Given the description of an element on the screen output the (x, y) to click on. 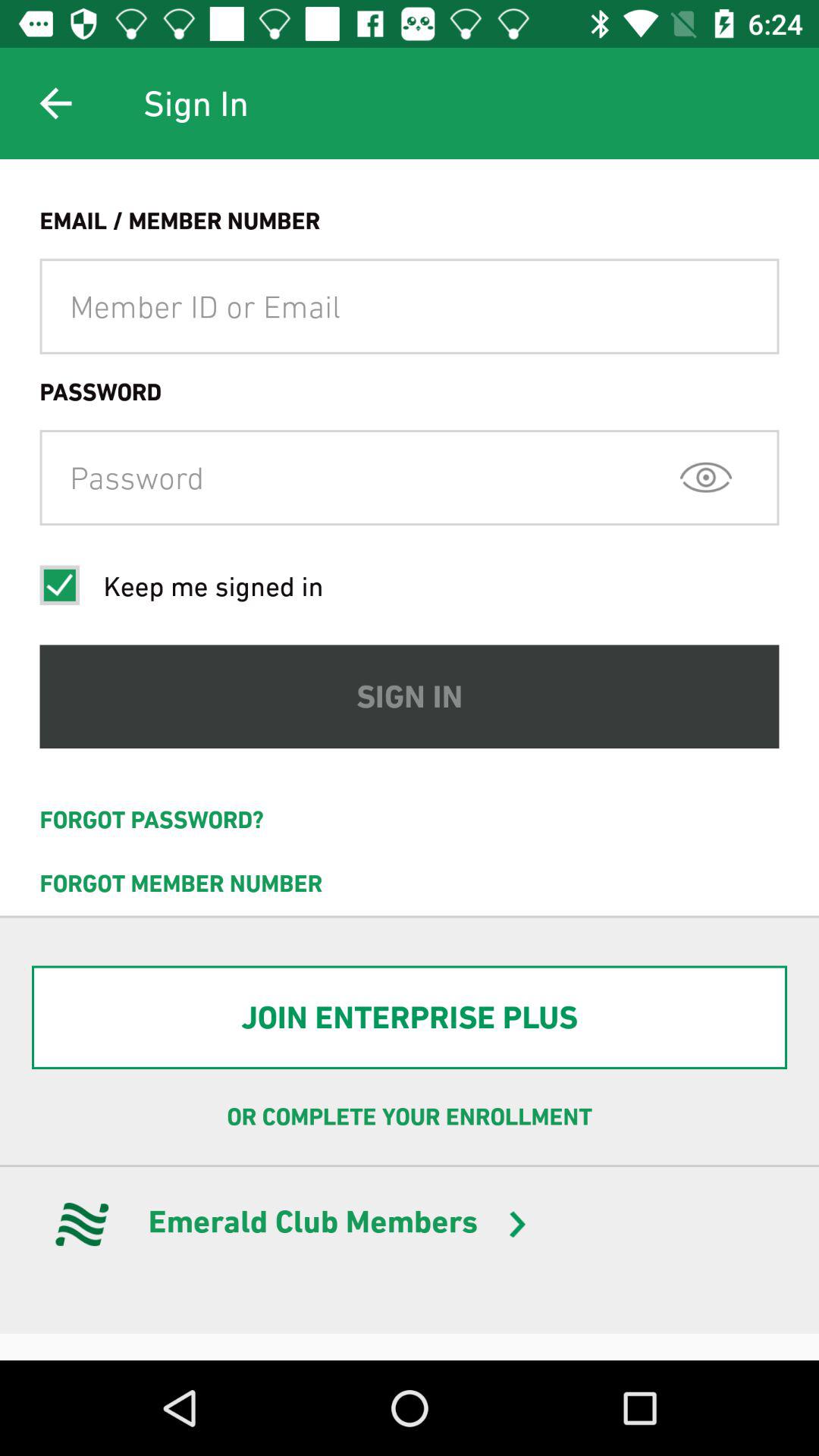
click the item below the sign in (409, 819)
